Given the description of an element on the screen output the (x, y) to click on. 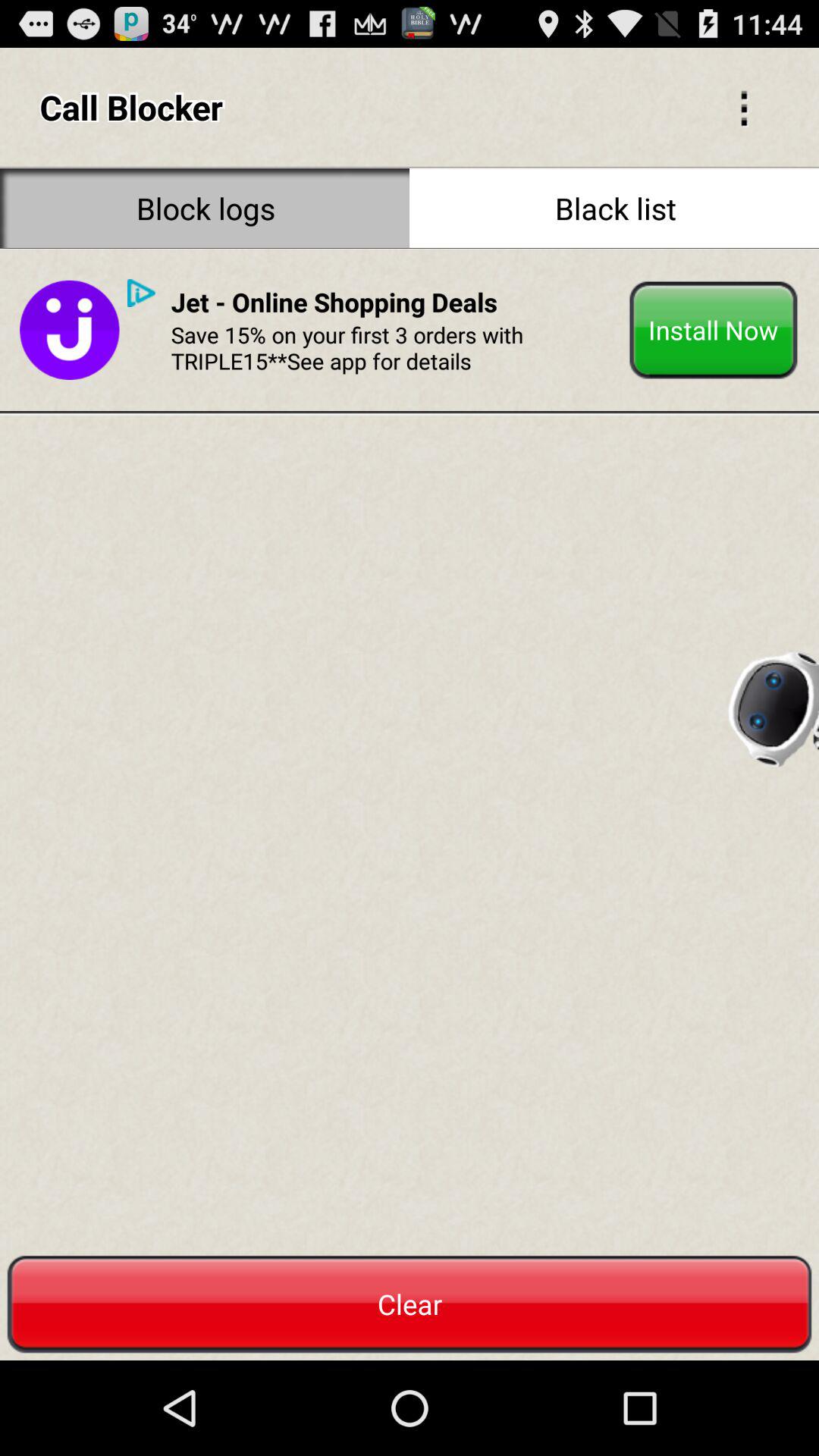
open the icon above the clear icon (69, 329)
